Given the description of an element on the screen output the (x, y) to click on. 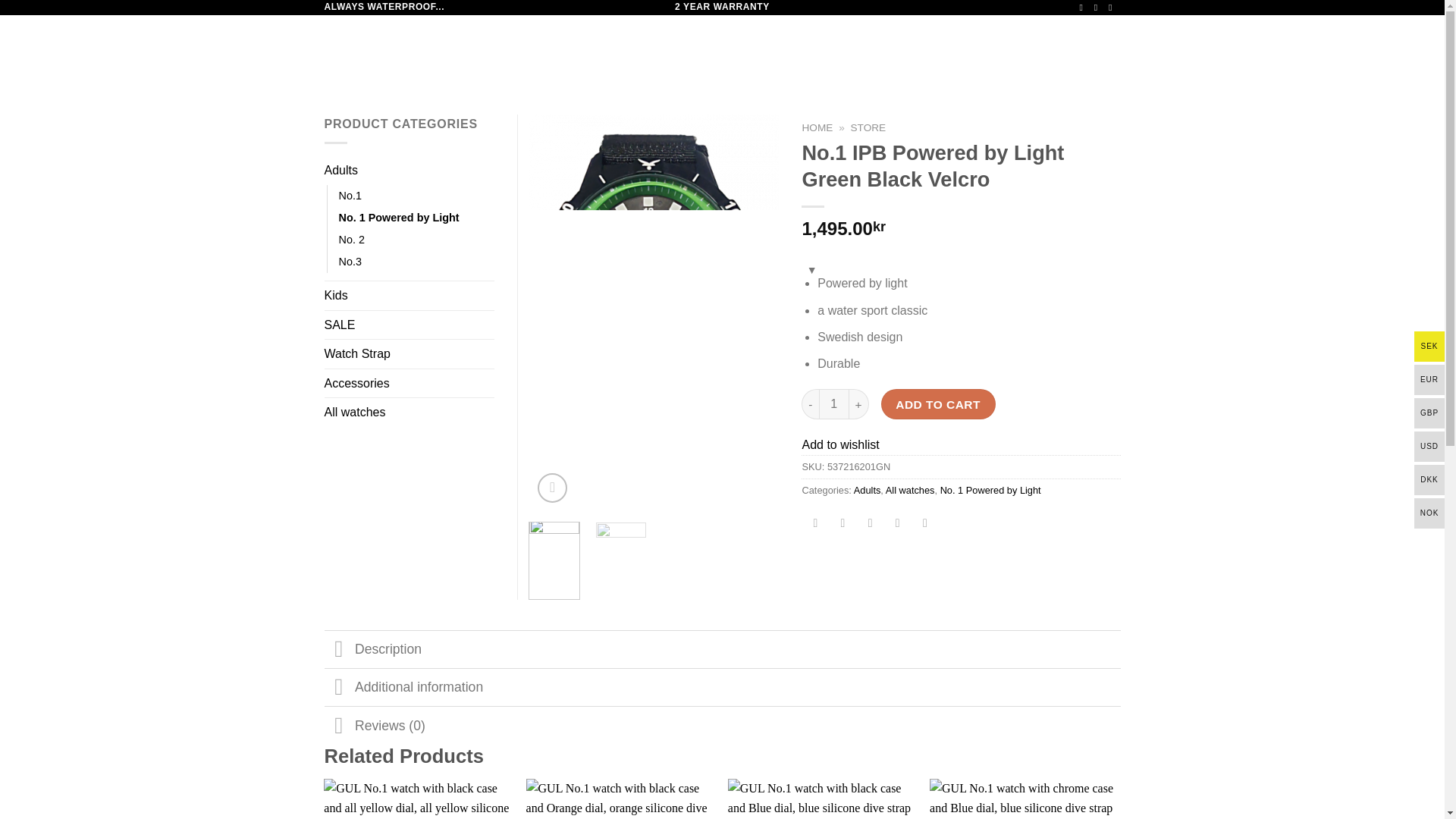
Cart (1069, 49)
SHOP (574, 49)
CONTACT (762, 49)
Add to wishlist (840, 444)
1 (833, 404)
Zoom (552, 487)
HOME (535, 49)
STORE (868, 127)
Gulwatches - Gulwatches waterproof watches from sweden (400, 49)
Adults (866, 490)
HOME (817, 127)
ADD TO CART (937, 404)
LOGIN (982, 49)
All watches (909, 490)
Login (982, 49)
